Given the description of an element on the screen output the (x, y) to click on. 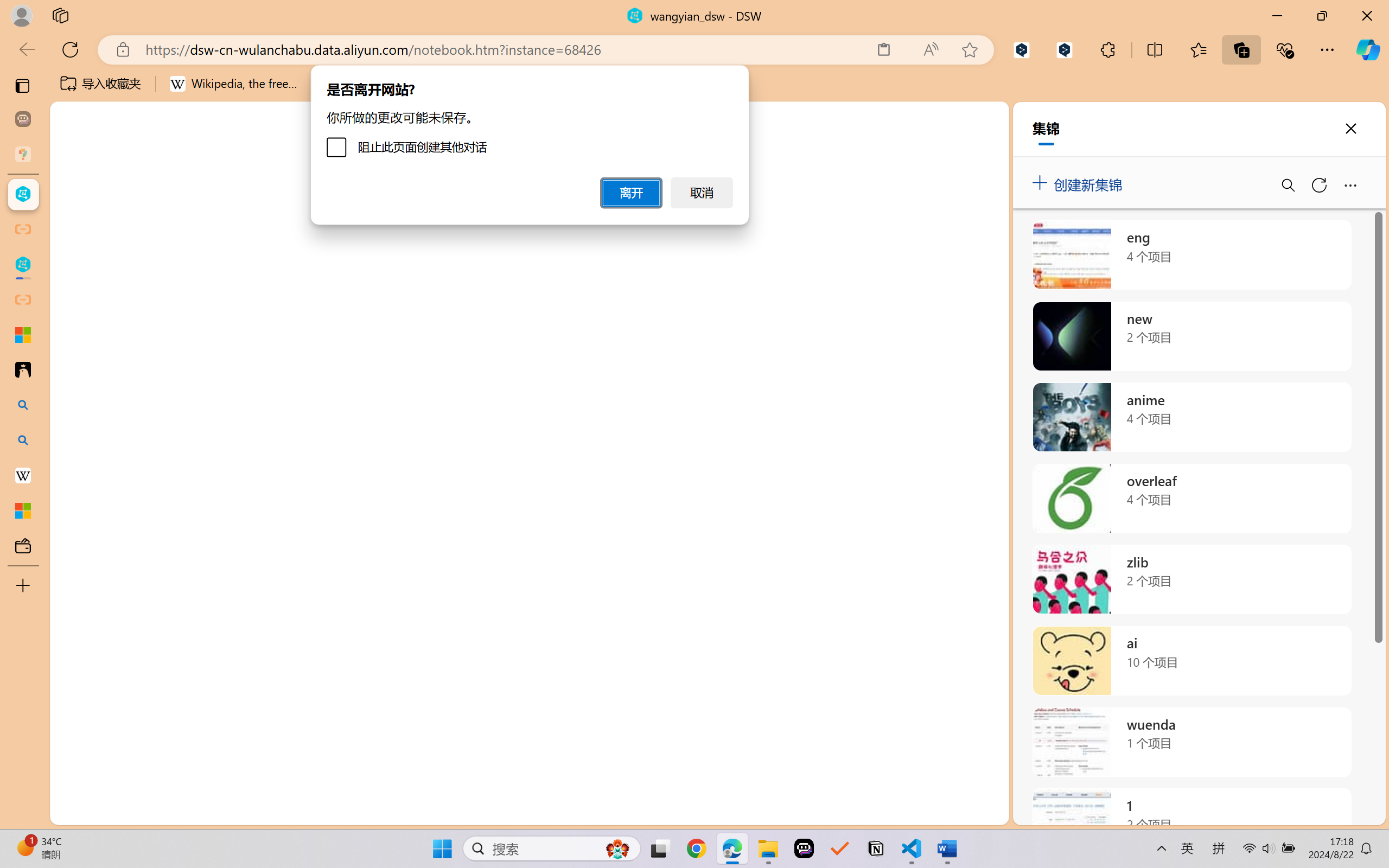
Manage (73, 755)
Title actions (1333, 159)
Maximize Panel Size (1337, 565)
Close Panel (1362, 565)
Explorer (Ctrl+Shift+E) (73, 234)
Timeline Section (179, 791)
